Given the description of an element on the screen output the (x, y) to click on. 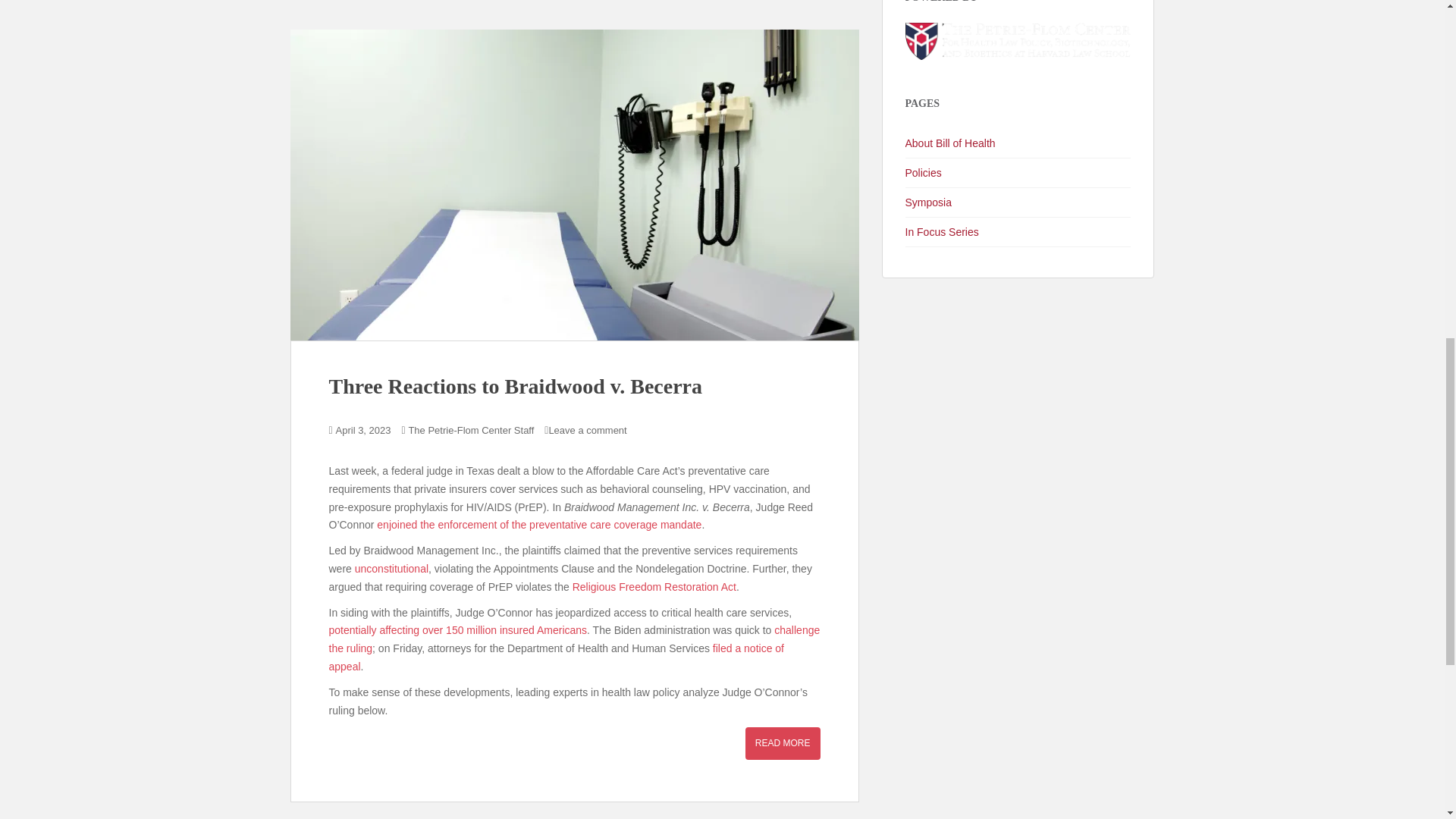
Three Reactions to Braidwood v. Becerra (516, 386)
The Petrie-Flom Center Staff (470, 430)
challenge the ruling (575, 639)
filed a notice of appeal (556, 657)
April 3, 2023 (363, 430)
Leave a comment (587, 430)
Religious Freedom Restoration Act (654, 586)
READ MORE (783, 743)
potentially affecting over 150 million insured Americans (458, 630)
unconstitutional (391, 568)
